Given the description of an element on the screen output the (x, y) to click on. 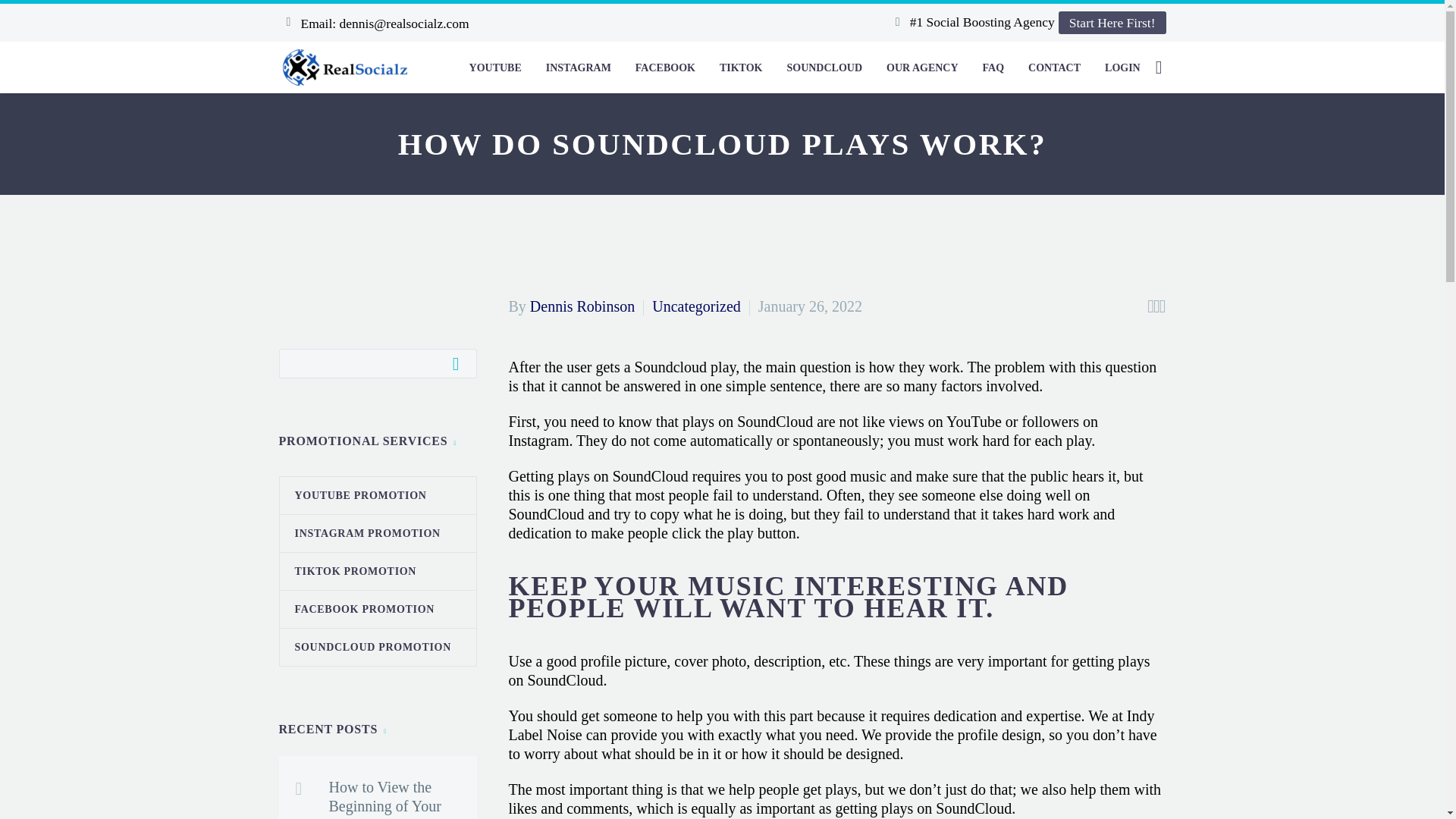
TIKTOK (740, 66)
View all posts in Uncategorized (696, 306)
YOUTUBE (495, 66)
SOUNDCLOUD (824, 66)
INSTAGRAM (578, 66)
FACEBOOK (665, 66)
Start Here First! (1112, 22)
